Given the description of an element on the screen output the (x, y) to click on. 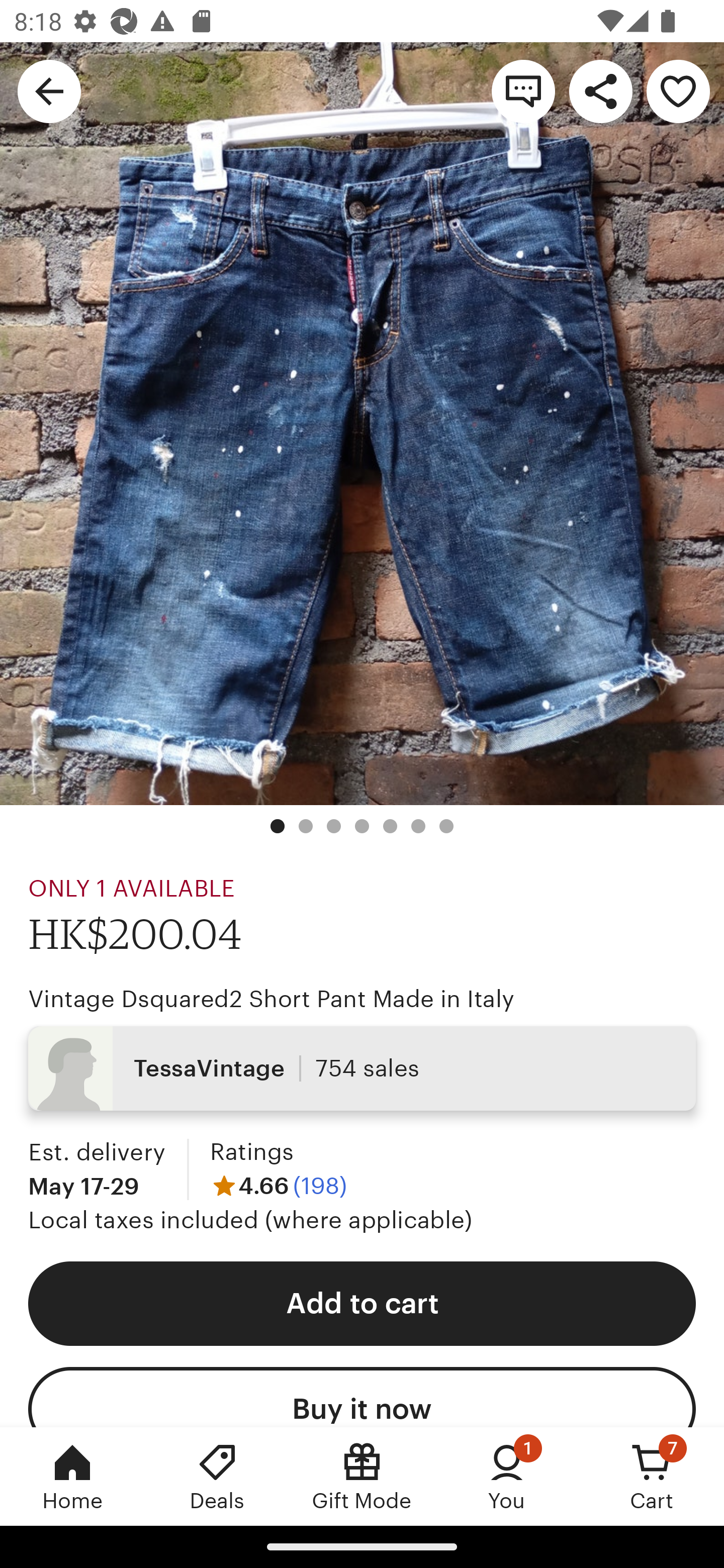
Navigate up (49, 90)
Contact shop (523, 90)
Share (600, 90)
Vintage Dsquared2 Short Pant Made in Italy (271, 999)
TessaVintage 754 sales (361, 1067)
Ratings (251, 1151)
4.66 (198) (277, 1185)
Add to cart (361, 1302)
Buy it now (361, 1396)
Deals (216, 1475)
Gift Mode (361, 1475)
You, 1 new notification You (506, 1475)
Cart, 7 new notifications Cart (651, 1475)
